Given the description of an element on the screen output the (x, y) to click on. 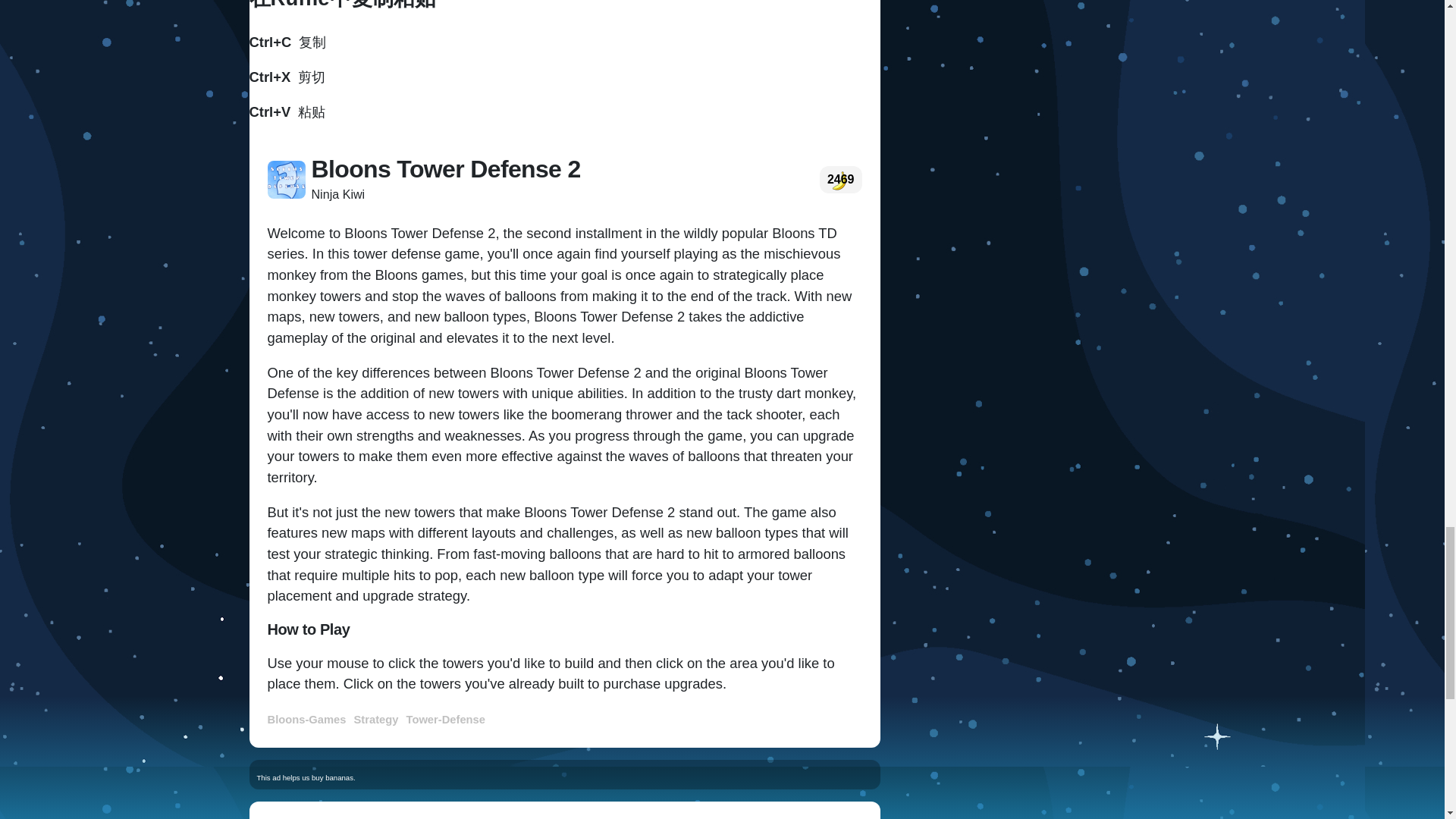
2469 (840, 180)
Strategy (377, 718)
Bloons-Games (307, 718)
Tower-Defense (447, 718)
